Given the description of an element on the screen output the (x, y) to click on. 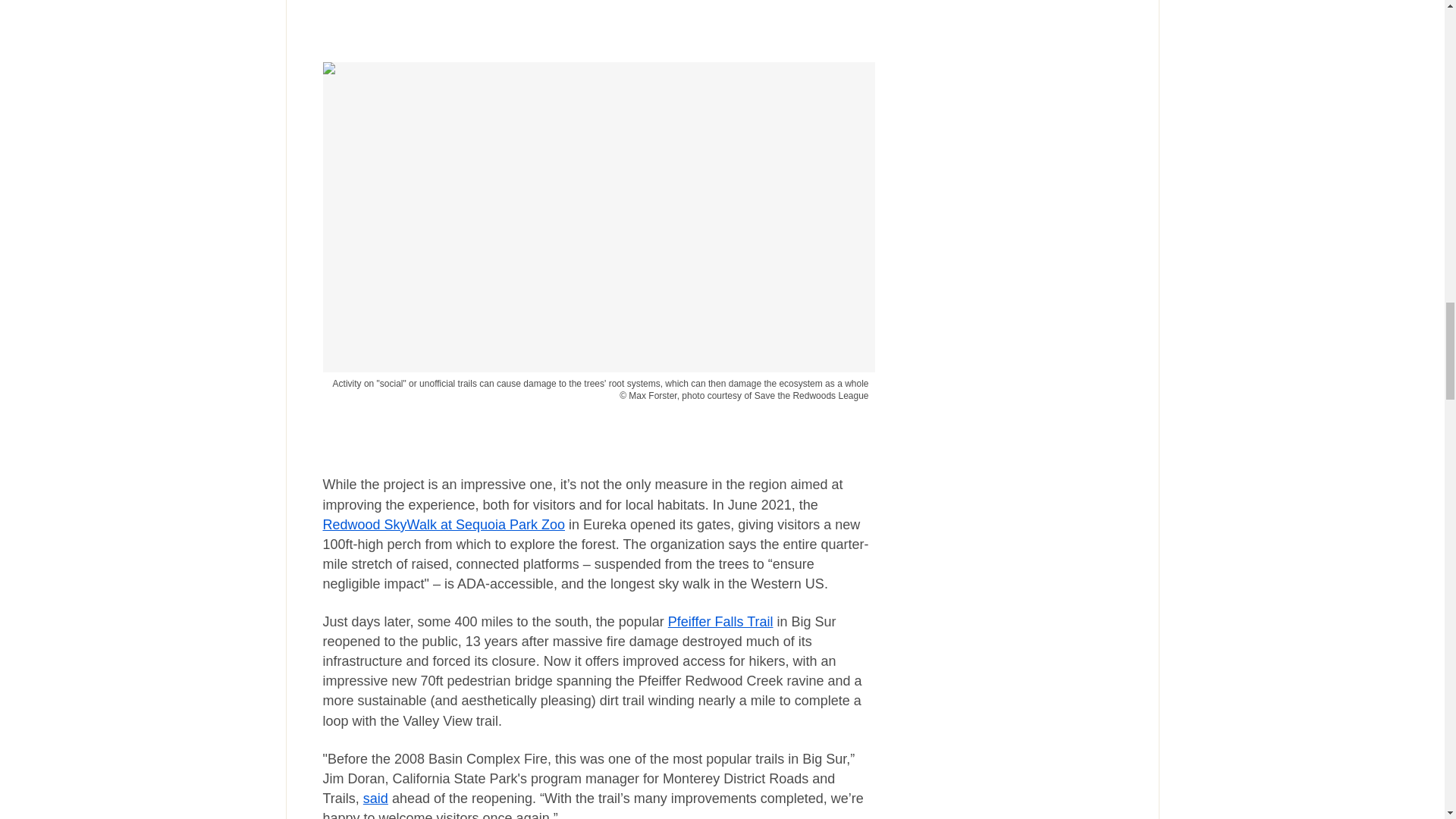
Redwood SkyWalk at Sequoia Park Zoo (444, 524)
said (375, 798)
Pfeiffer Falls Trail (720, 621)
